Given the description of an element on the screen output the (x, y) to click on. 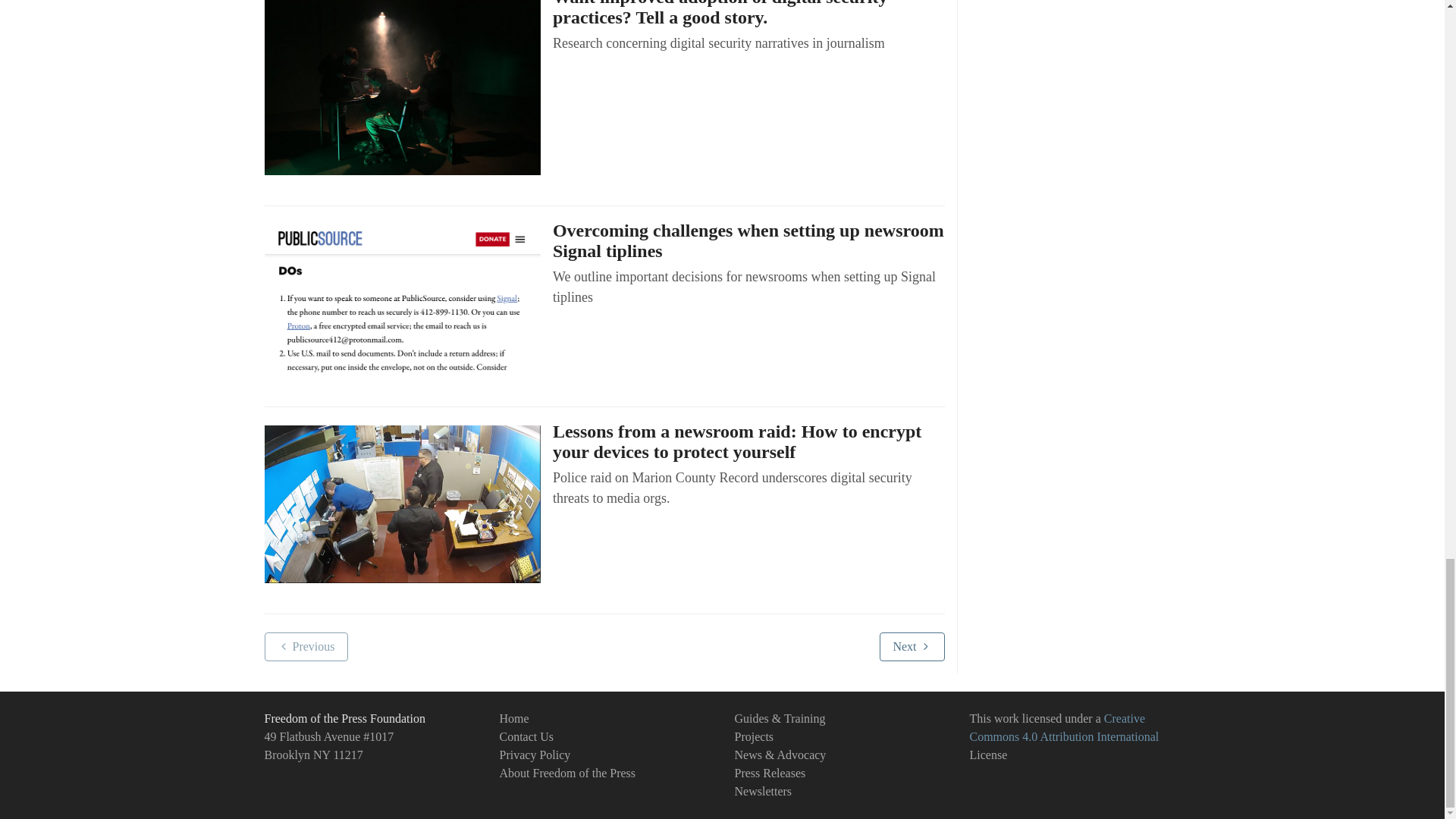
Next (911, 646)
Home (513, 717)
Contact Us (526, 736)
